Given the description of an element on the screen output the (x, y) to click on. 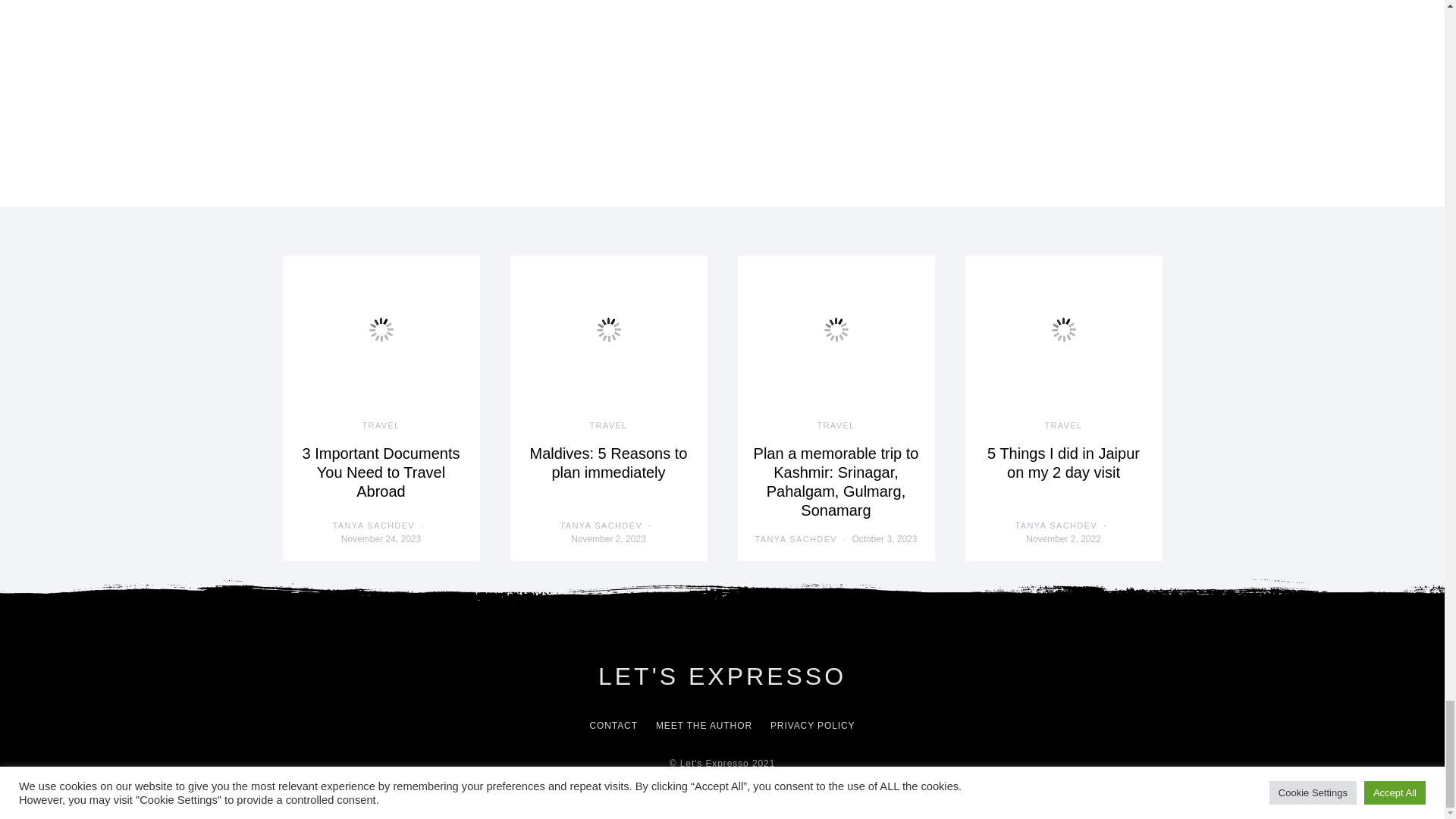
Maldives: 5 Reasons to plan immediately (608, 462)
View all posts by Tanya Sachdev (601, 525)
View all posts by Tanya Sachdev (373, 525)
View all posts by Tanya Sachdev (796, 539)
3 Important Documents You Need to Travel Abroad (381, 472)
